Given the description of an element on the screen output the (x, y) to click on. 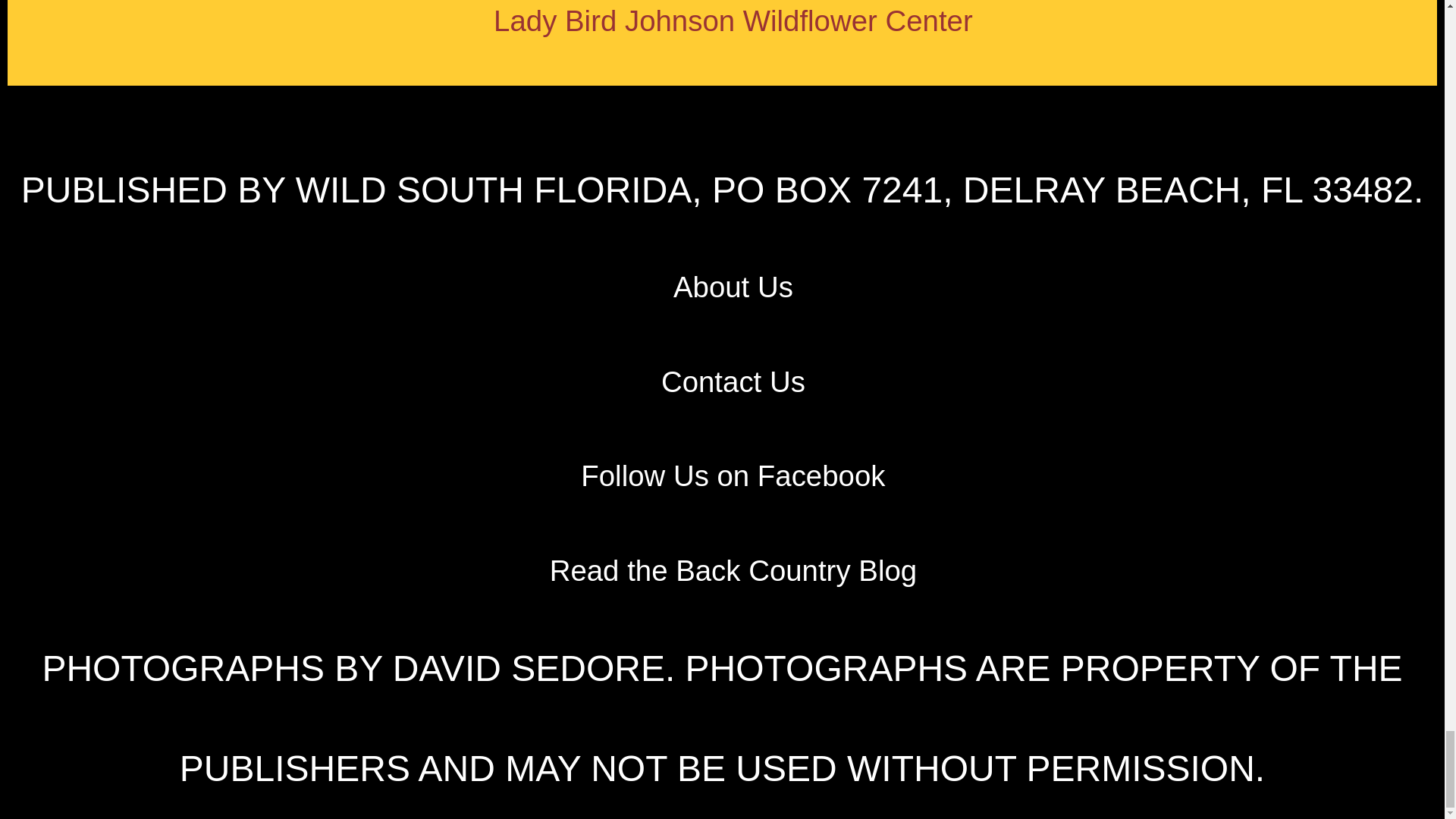
Follow Us on Facebook (732, 475)
Lady Bird Johnson Wildflower Center (732, 20)
Contact Us (733, 380)
About Us (732, 287)
Read the Back Country Blog (733, 570)
